Given the description of an element on the screen output the (x, y) to click on. 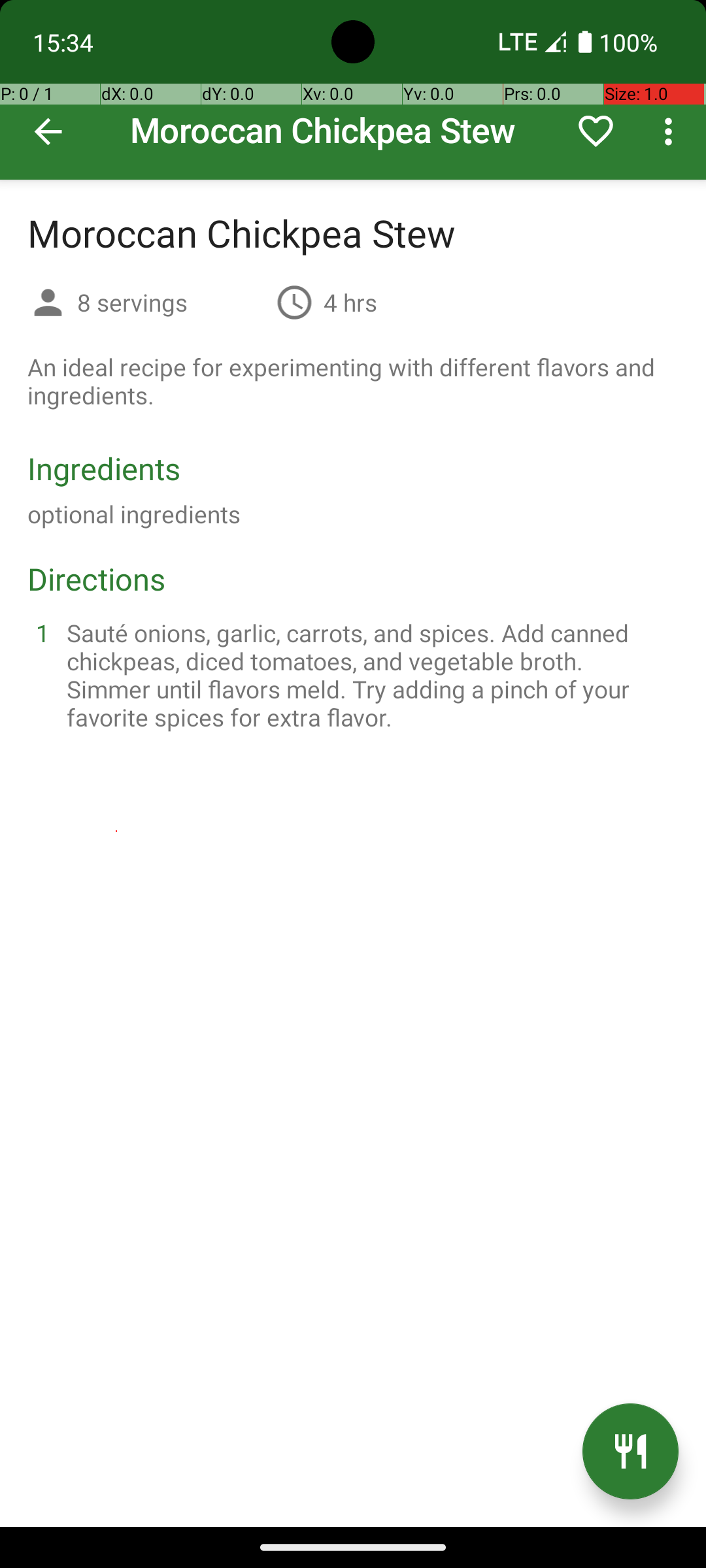
Sauté onions, garlic, carrots, and spices. Add canned chickpeas, diced tomatoes, and vegetable broth. Simmer until flavors meld. Try adding a pinch of your favorite spices for extra flavor. Element type: android.widget.TextView (368, 674)
